Given the description of an element on the screen output the (x, y) to click on. 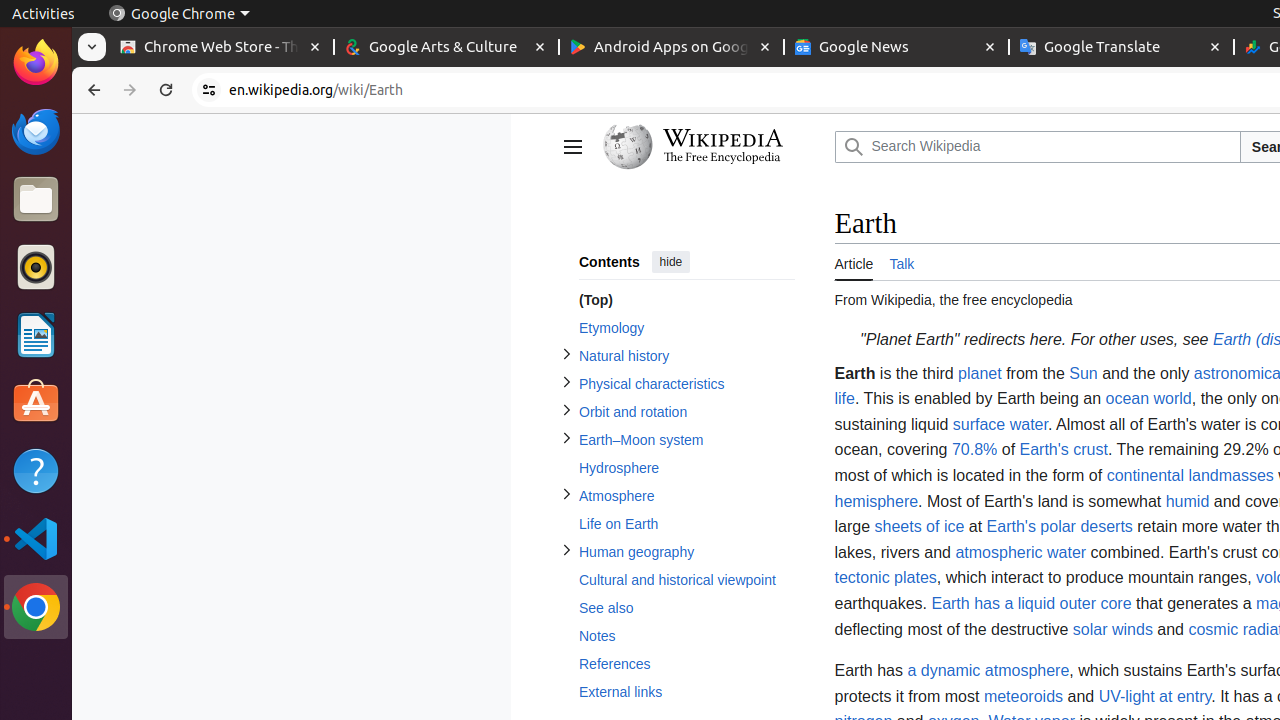
Talk Element type: link (902, 262)
